Given the description of an element on the screen output the (x, y) to click on. 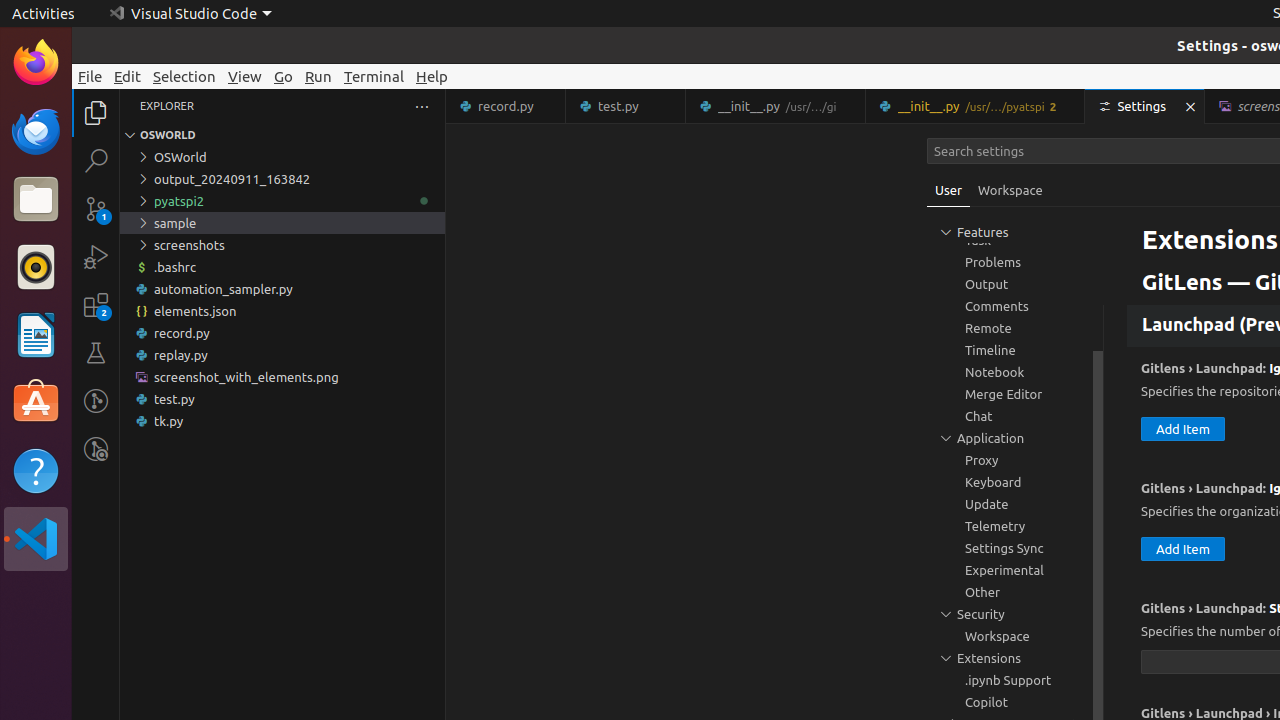
Add Item Element type: push-button (1183, 266)
Explorer Section: osworld Element type: push-button (282, 135)
Other, group Element type: tree-item (1015, 592)
Workspace Element type: check-box (1010, 190)
Go Element type: push-button (283, 76)
